Given the description of an element on the screen output the (x, y) to click on. 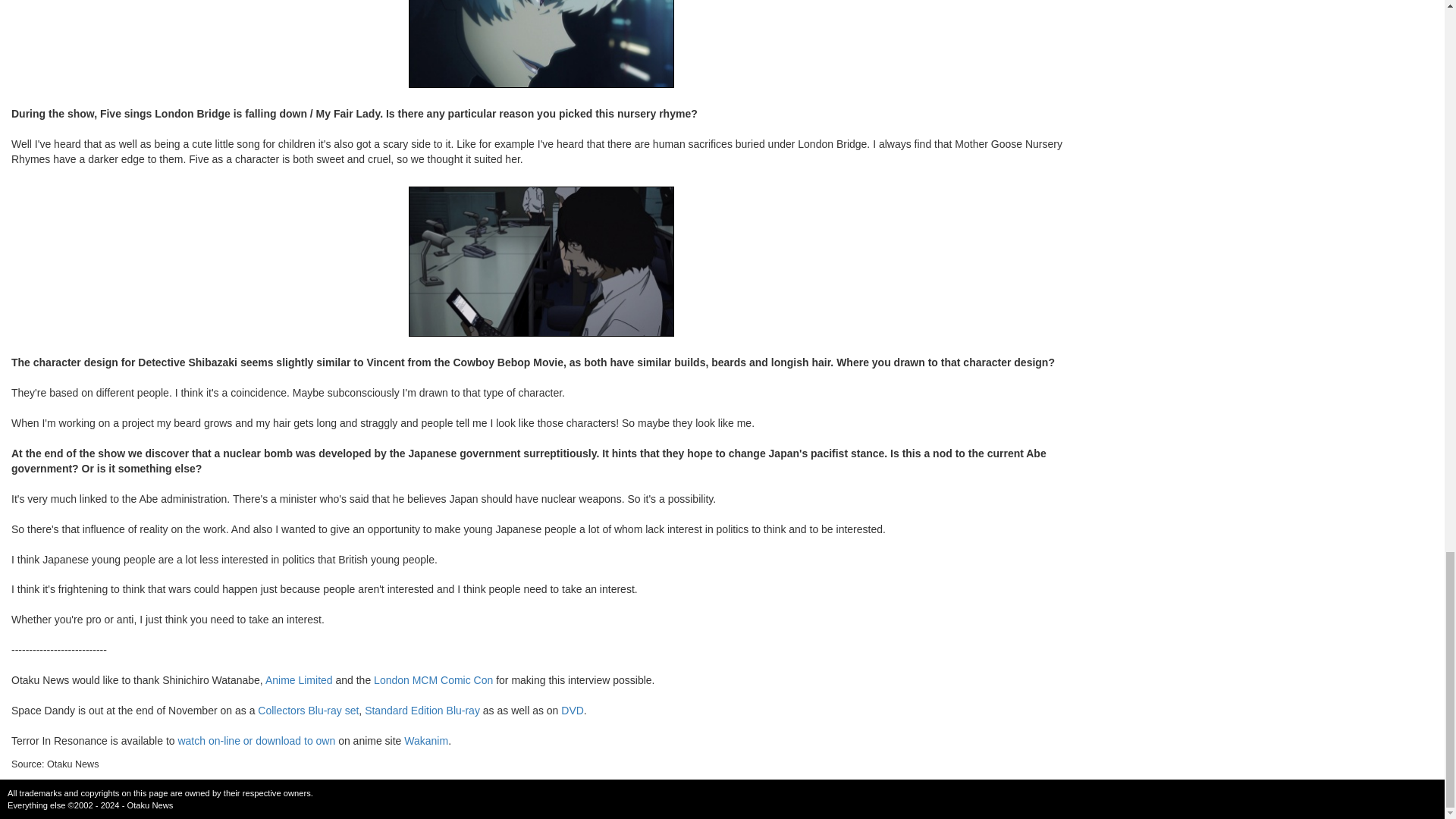
London MCM Comic Con (433, 680)
Collectors Blu-ray set (307, 710)
Standard Edition Blu-ray (422, 710)
DVD (571, 710)
watch on-line or download to own (255, 740)
Wakanim (426, 740)
Anime Limited (298, 680)
